Given the description of an element on the screen output the (x, y) to click on. 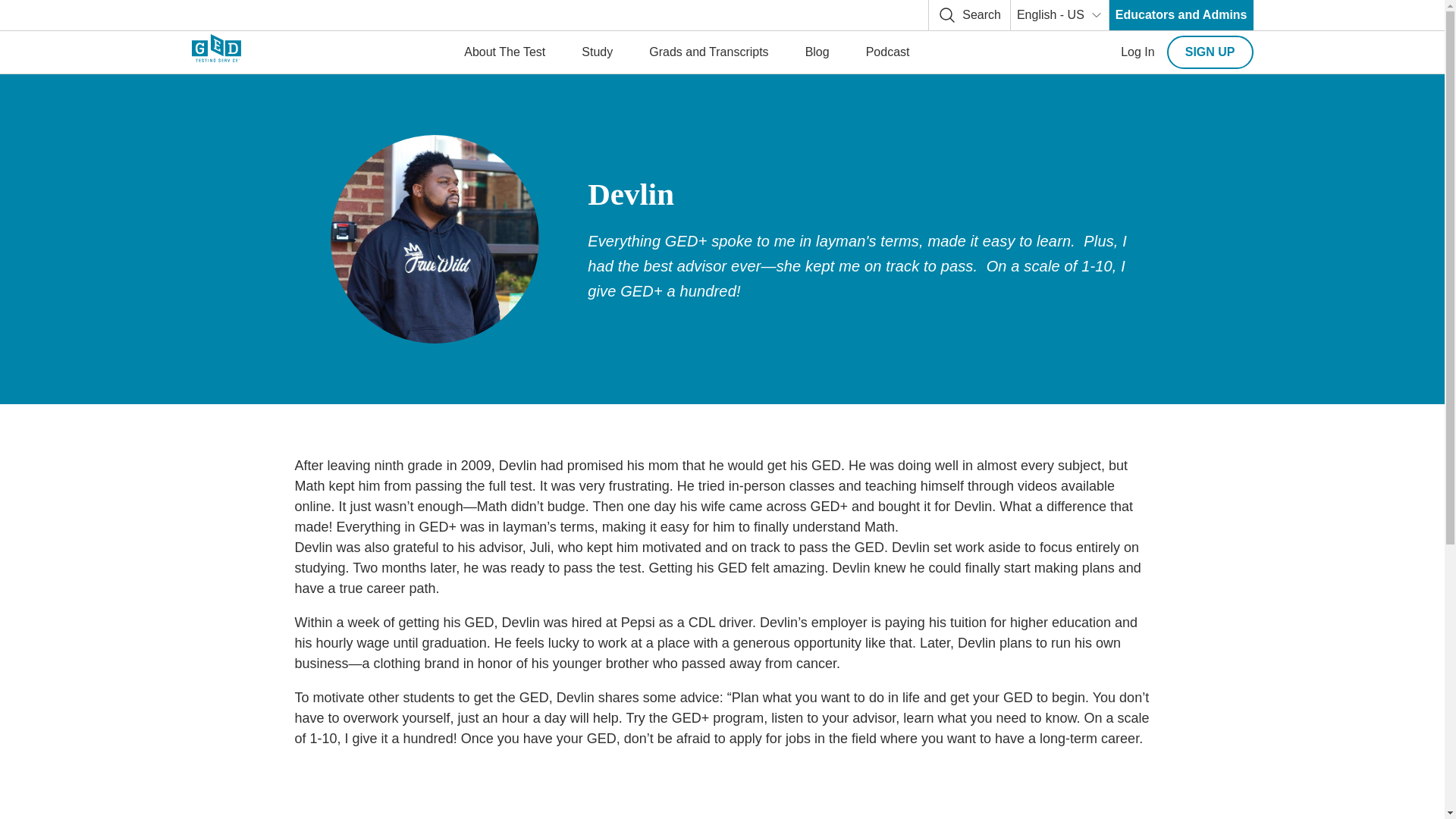
SIGN UP (1210, 52)
Blog (817, 52)
Study (596, 52)
Podcast (887, 52)
Educators and Admins (1181, 15)
About The Test (504, 52)
Log In (1137, 51)
Grads and Transcripts (708, 52)
English - US (1059, 14)
Search (969, 14)
